Given the description of an element on the screen output the (x, y) to click on. 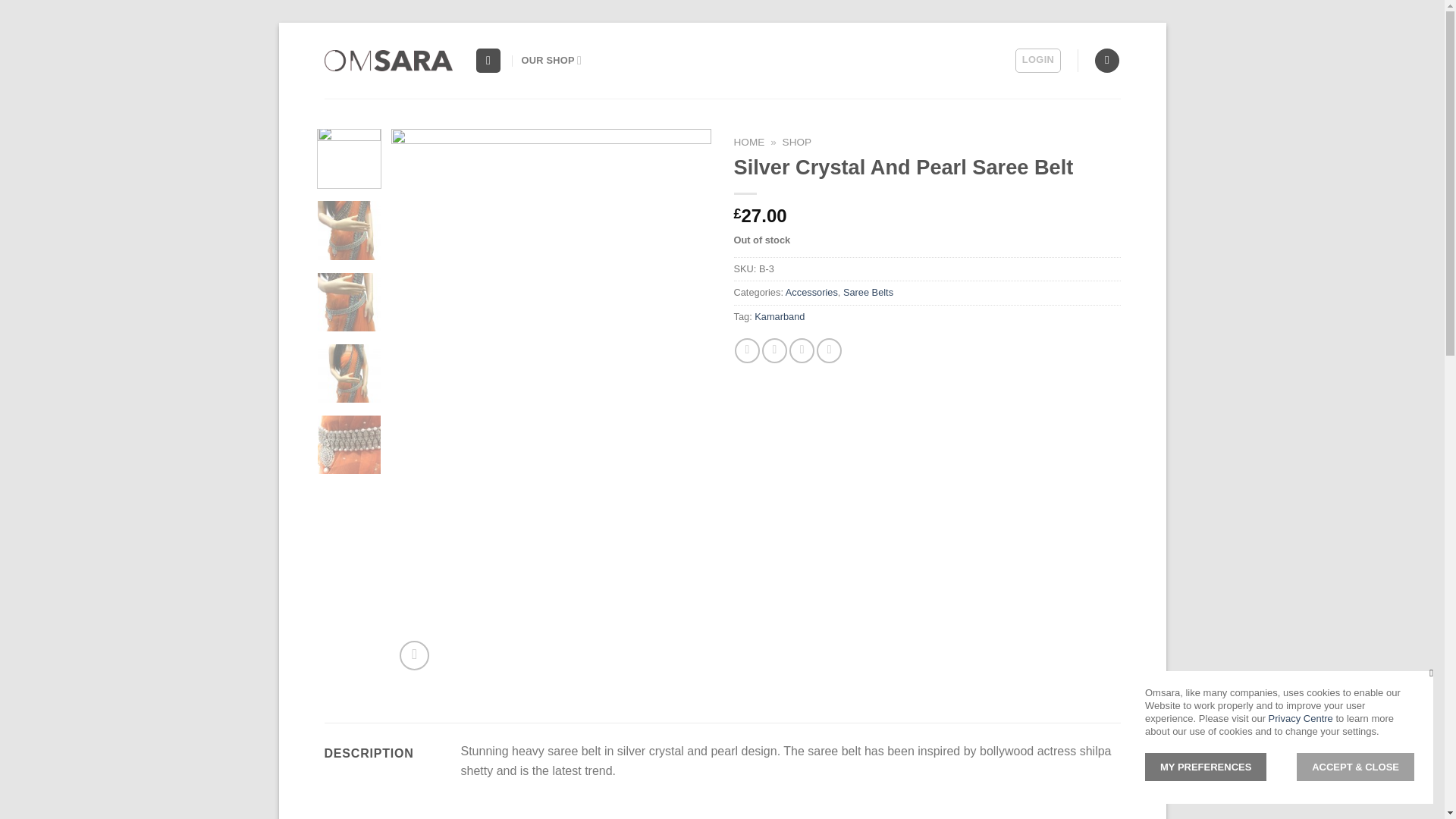
OUR SHOP (551, 60)
Buy Online Indian Womens Clothing UK (551, 60)
Zoom (413, 655)
HOME (749, 142)
SHOP (797, 142)
